Given the description of an element on the screen output the (x, y) to click on. 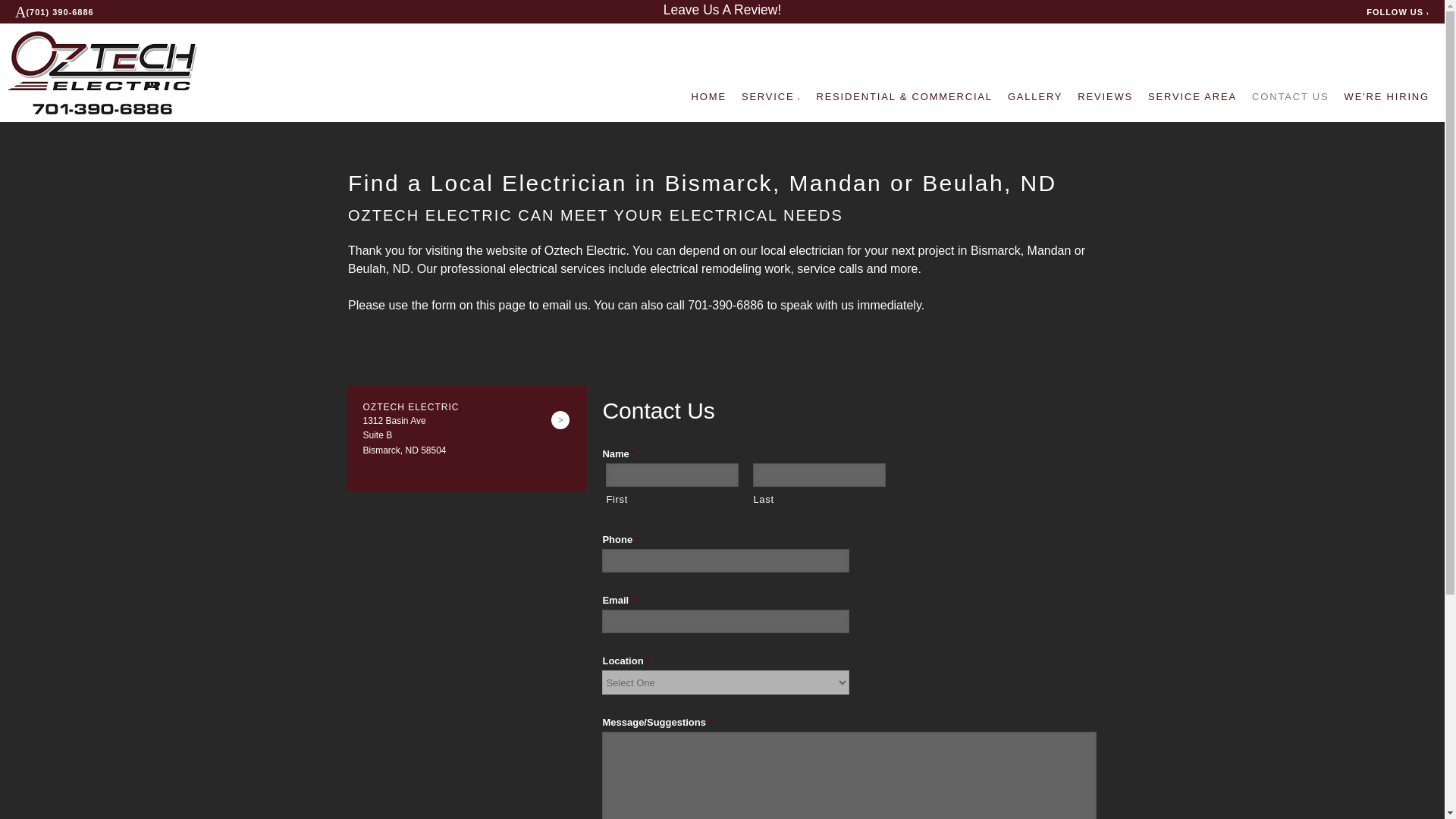
REVIEWS (1104, 96)
CONTACT US (1290, 96)
WE'RE HIRING (1386, 96)
GALLERY (1034, 96)
SERVICE AREA (1192, 96)
HOME (708, 96)
Leave Us A Review! (722, 9)
See Details (560, 420)
